Given the description of an element on the screen output the (x, y) to click on. 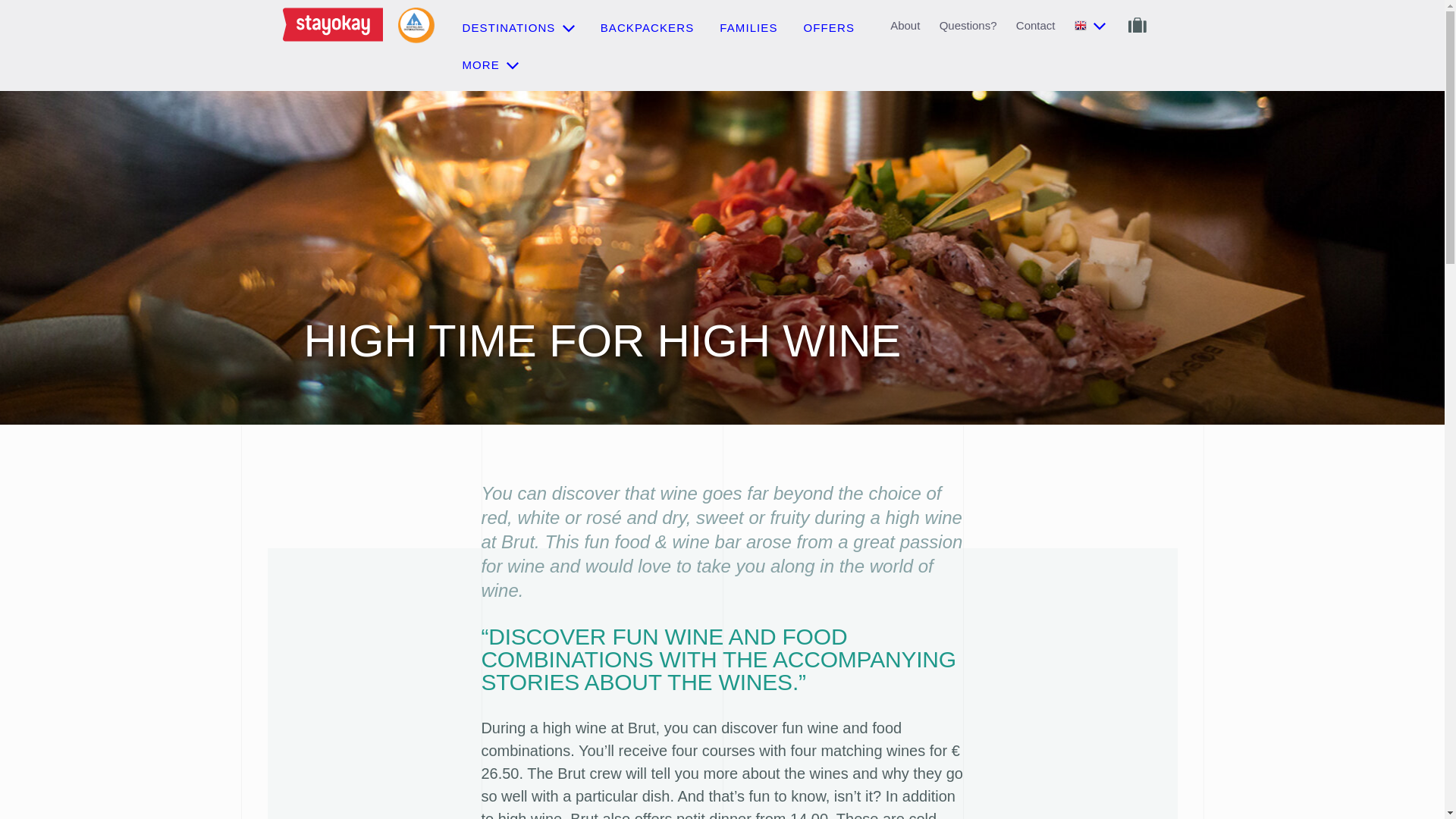
FAMILIES (748, 27)
BACKPACKERS (647, 27)
MORE (491, 64)
DESTINATIONS (519, 27)
OFFERS (828, 27)
